Given the description of an element on the screen output the (x, y) to click on. 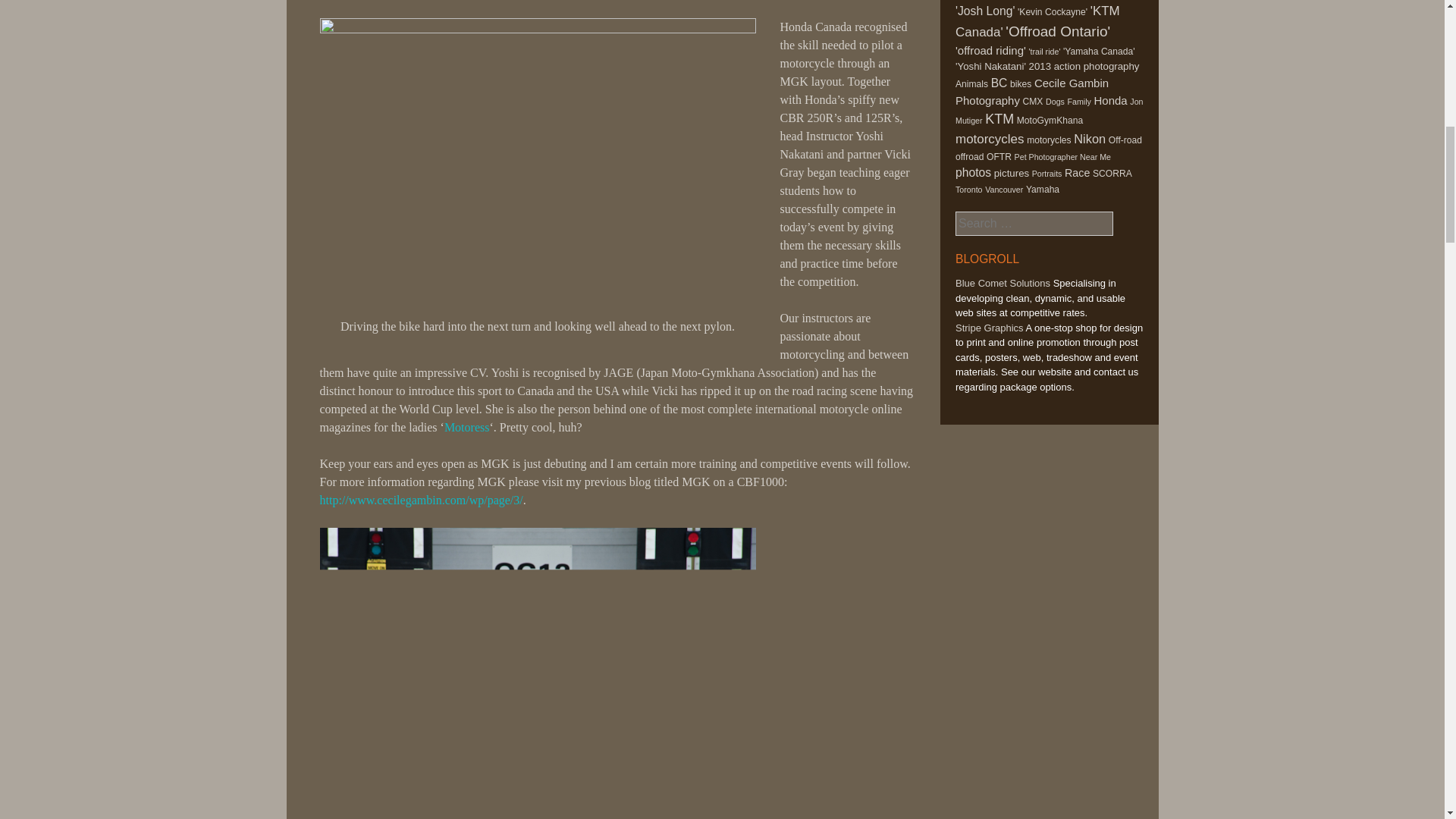
Motoress Website (466, 427)
Motoress (466, 427)
